Given the description of an element on the screen output the (x, y) to click on. 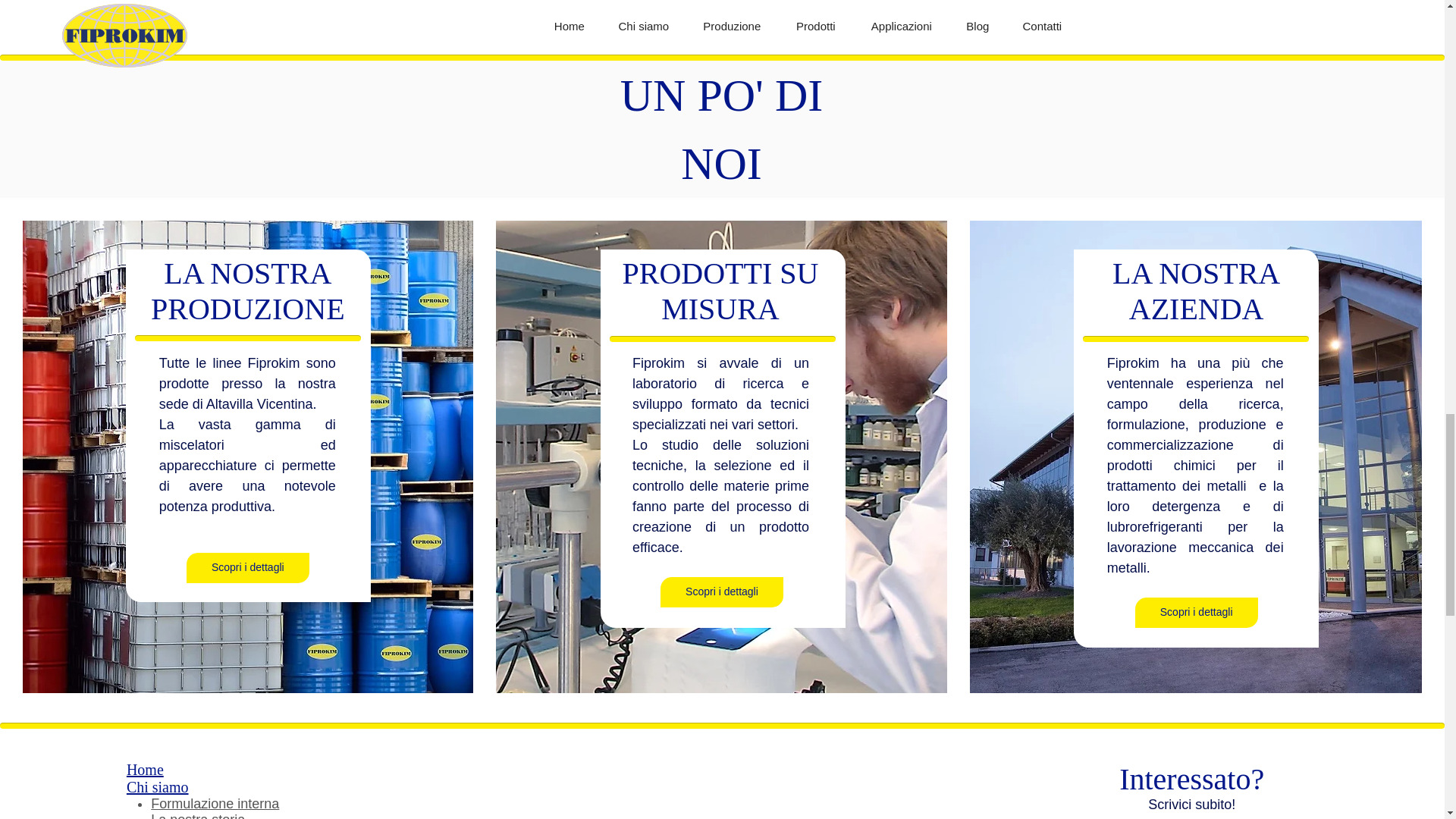
Chi siamo (157, 786)
Scopri i dettagli (247, 567)
La nostra storia (197, 815)
Home (144, 769)
Scopri i dettagli (838, 8)
Formulazione interna (215, 803)
Scopri i dettagli (722, 592)
Scopri i dettagli (1196, 612)
